Given the description of an element on the screen output the (x, y) to click on. 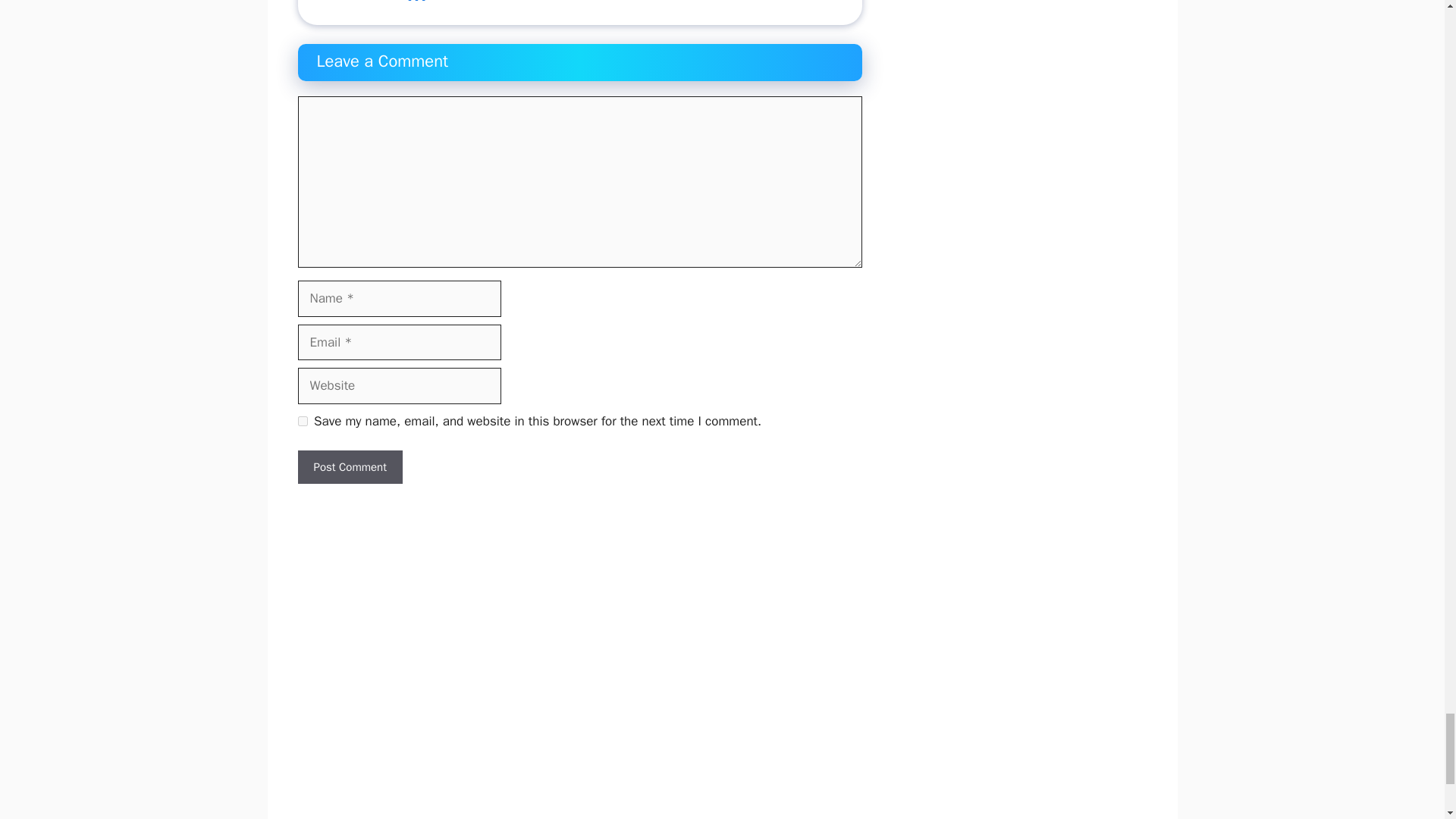
Post Comment (349, 467)
yes (302, 420)
